Given the description of an element on the screen output the (x, y) to click on. 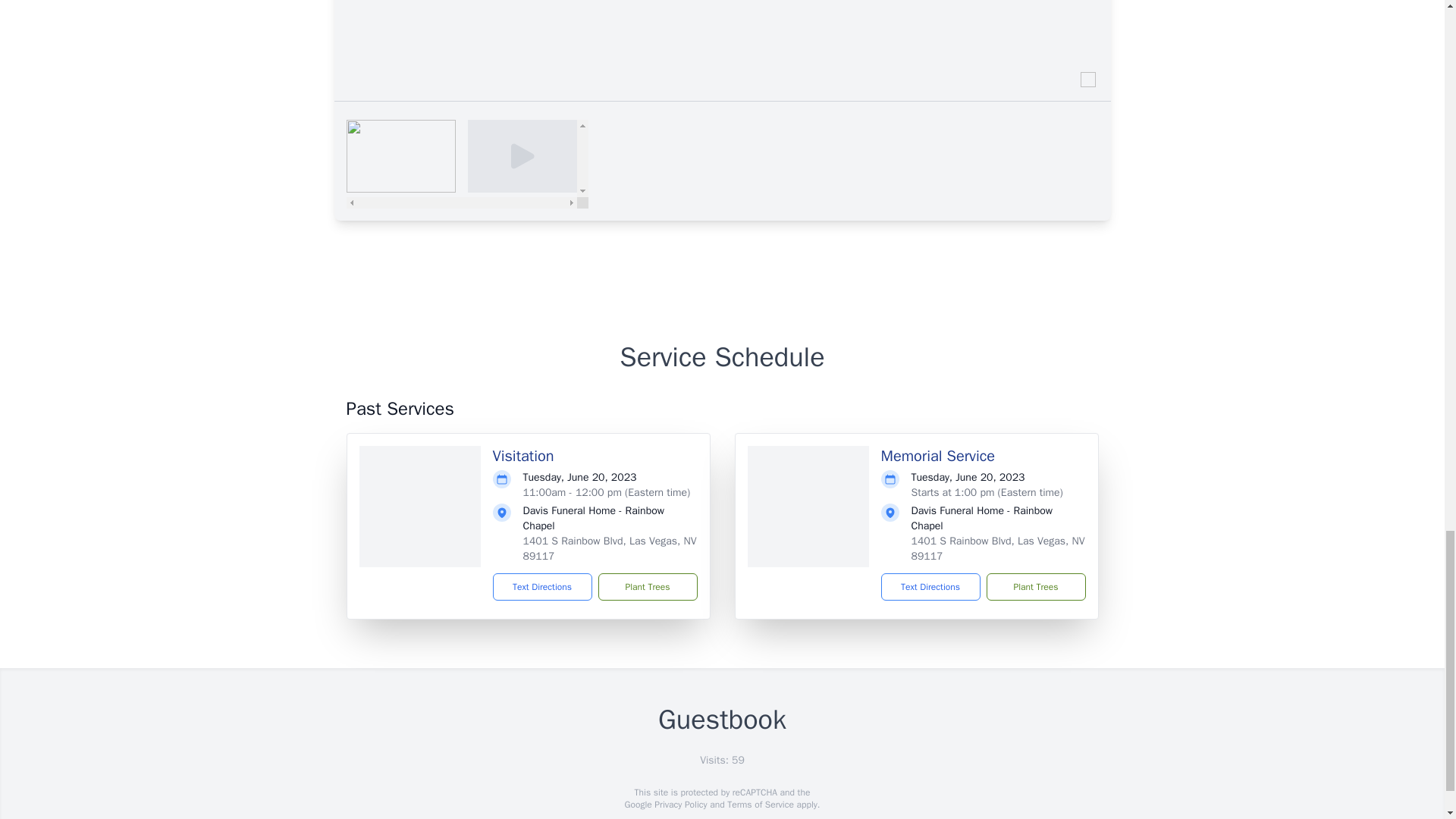
1401 S Rainbow Blvd, Las Vegas, NV 89117 (997, 548)
Text Directions (929, 586)
Terms of Service (759, 804)
Text Directions (542, 586)
Privacy Policy (679, 804)
1401 S Rainbow Blvd, Las Vegas, NV 89117 (609, 548)
Plant Trees (646, 586)
Plant Trees (1034, 586)
